Given the description of an element on the screen output the (x, y) to click on. 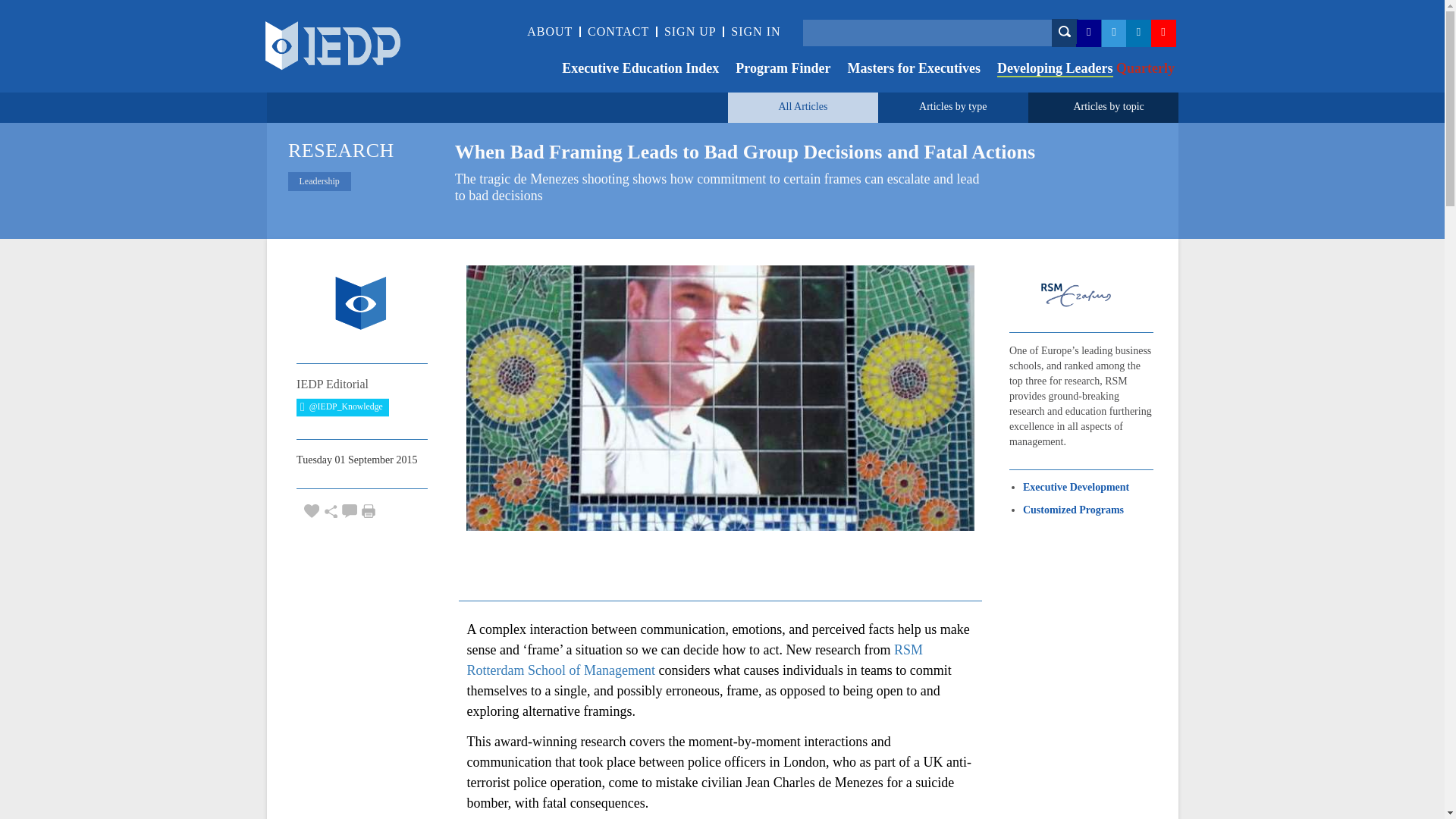
Masters for Executives (904, 70)
print (368, 510)
ABOUT (549, 31)
Articles by type (952, 106)
Program Finder (774, 70)
share (330, 511)
SIGN UP (689, 31)
Articles by topic (1107, 106)
favourite (311, 511)
Developing Leaders Quarterly (1076, 70)
SIGN IN (755, 31)
All Articles (802, 106)
Executive Education Index (631, 70)
CONTACT (618, 31)
Comment (349, 511)
